Given the description of an element on the screen output the (x, y) to click on. 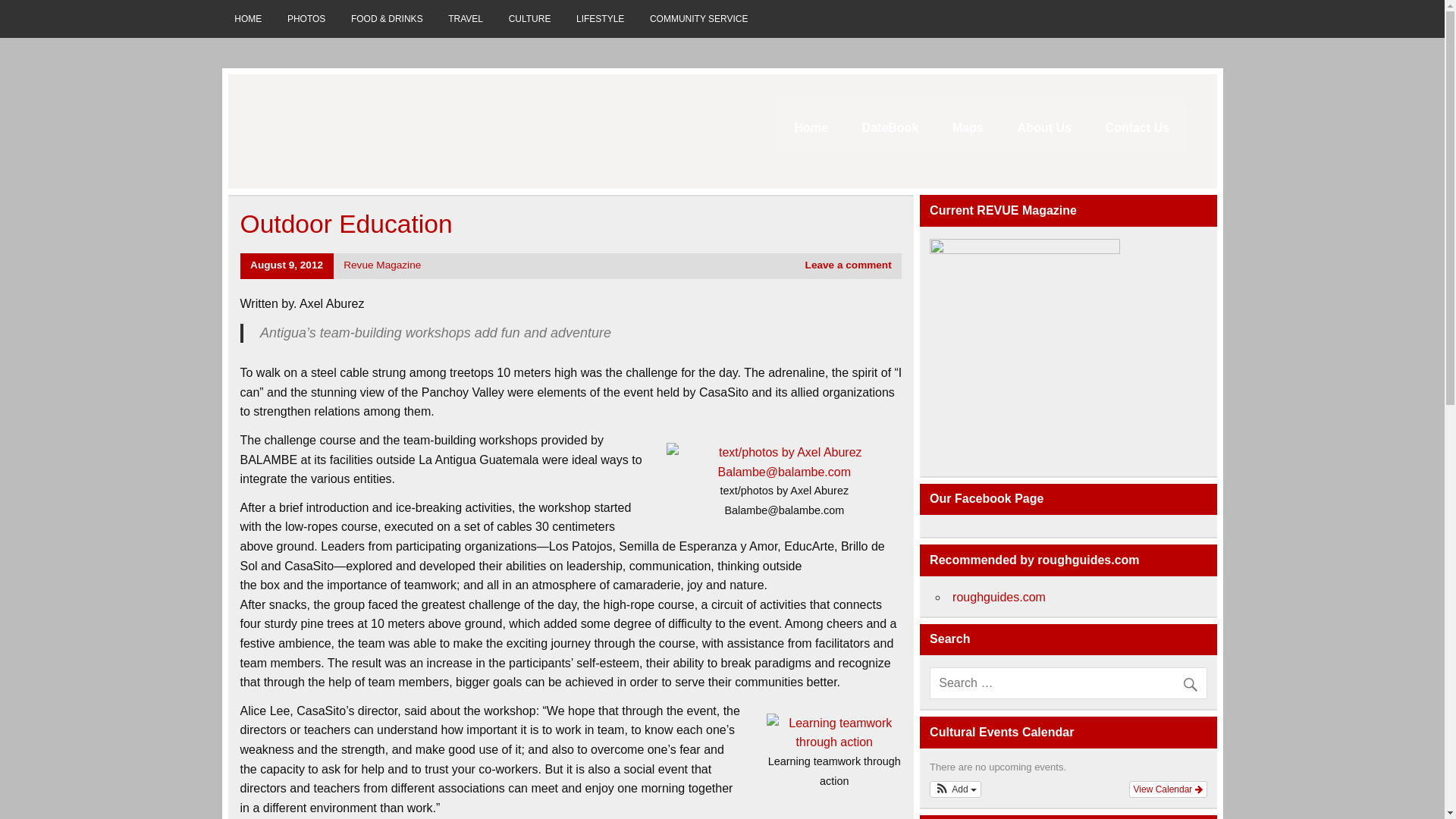
HOME (248, 18)
Contact Us (1136, 127)
Learning teamwork through action (834, 732)
About Us (1043, 127)
TRAVEL (465, 18)
August 9, 2012 (286, 265)
2:00 pm (286, 265)
LIFESTYLE (600, 18)
Home (810, 127)
CULTURE (529, 18)
